Given the description of an element on the screen output the (x, y) to click on. 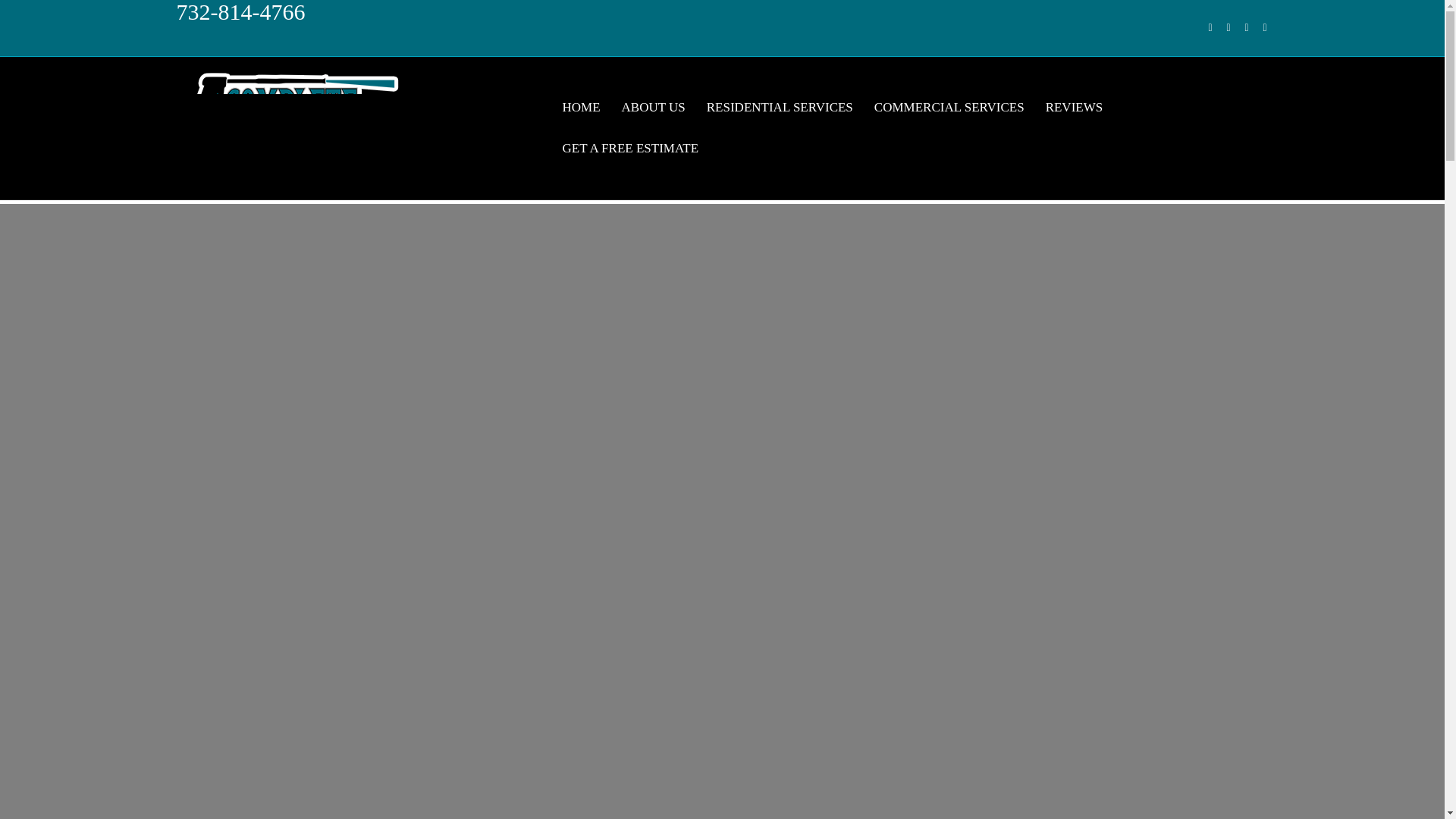
Google (1220, 27)
RESIDENTIAL SERVICES (779, 106)
COMMERCIAL SERVICES (949, 106)
ABOUT US (653, 106)
Youtube (1256, 27)
REVIEWS (1074, 106)
Yelp (1238, 27)
HOME (580, 106)
Facebook (1202, 27)
GET A FREE ESTIMATE (630, 147)
